Given the description of an element on the screen output the (x, y) to click on. 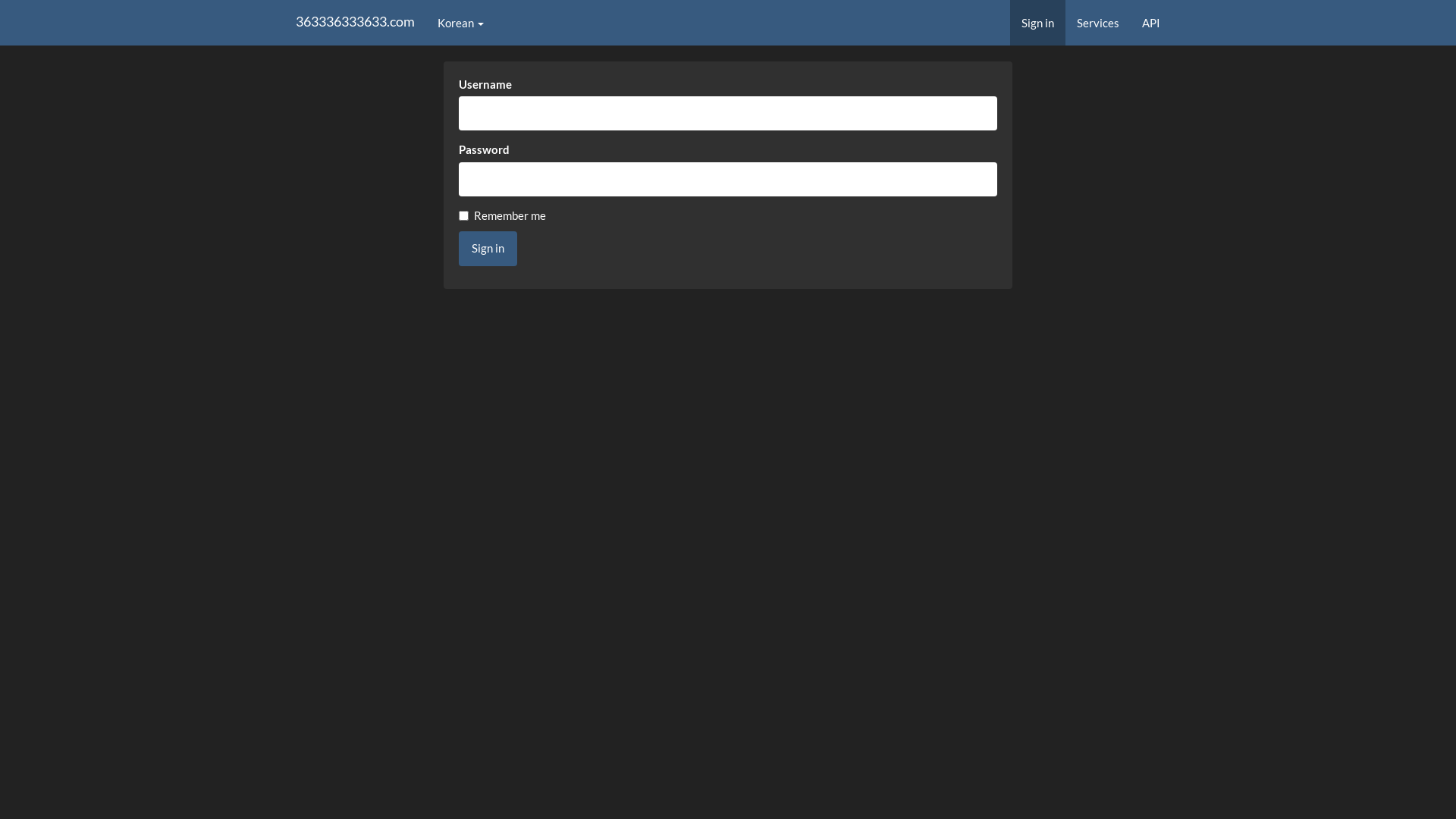
Sign in Element type: text (487, 248)
363336333633.com Element type: text (355, 22)
Sign in Element type: text (1037, 22)
Korean Element type: text (460, 22)
API Element type: text (1150, 22)
Services Element type: text (1097, 22)
